Given the description of an element on the screen output the (x, y) to click on. 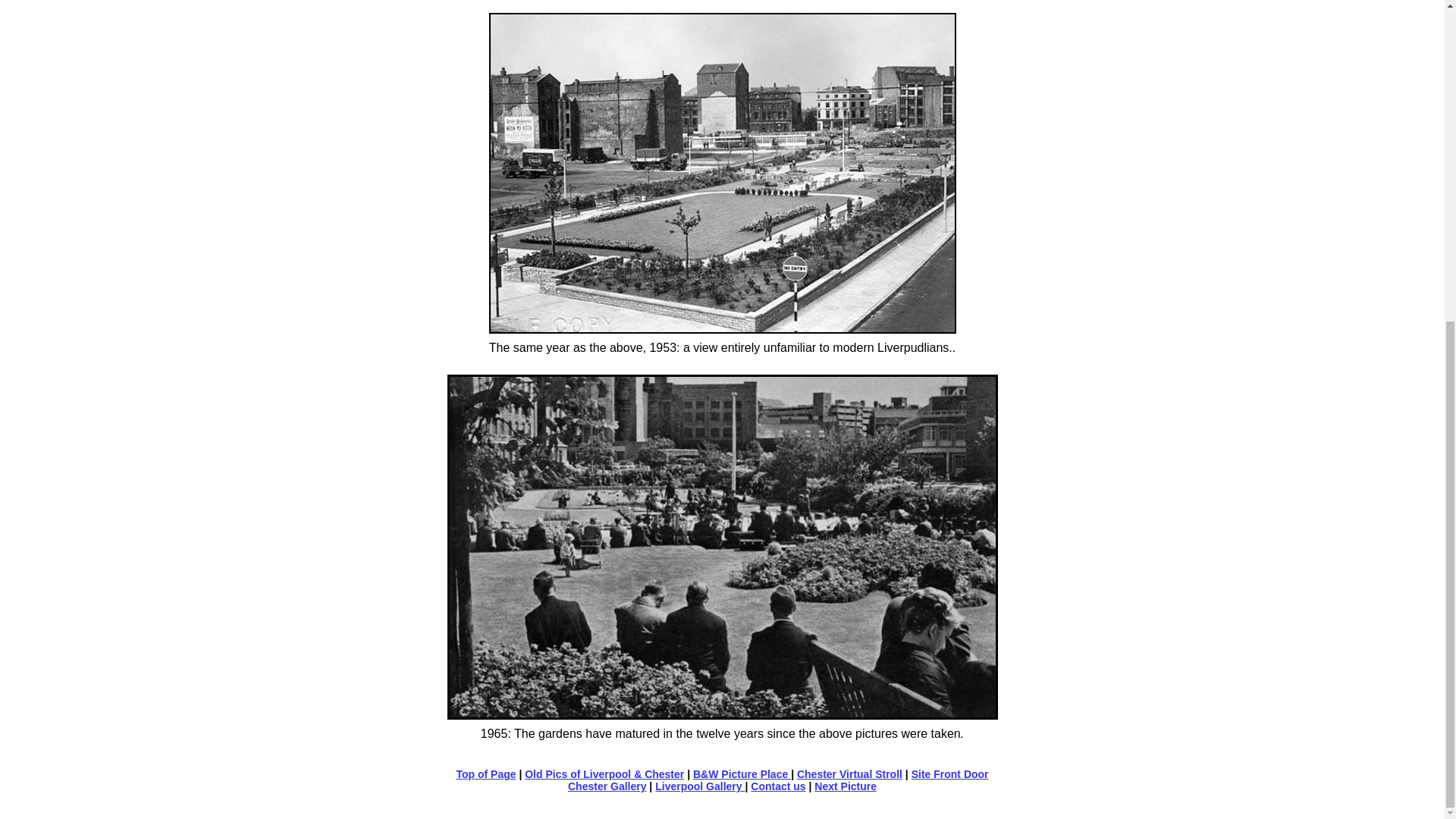
Chester Virtual Stroll (849, 774)
Top of Page (485, 774)
Next Picture (844, 786)
Contact us (778, 786)
Chester Gallery (606, 786)
Liverpool Gallery (699, 786)
Site Front Door (949, 774)
